Given the description of an element on the screen output the (x, y) to click on. 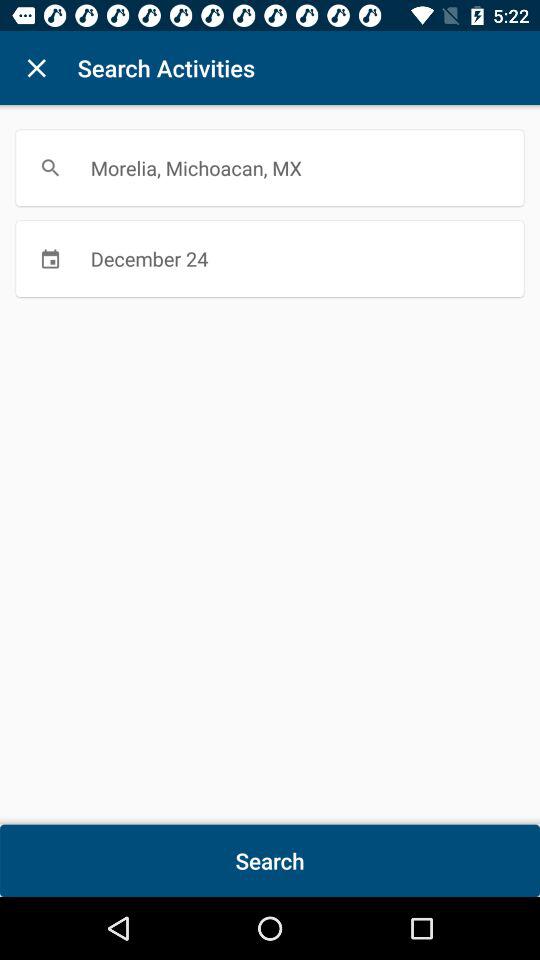
press icon next to search activities item (36, 68)
